Given the description of an element on the screen output the (x, y) to click on. 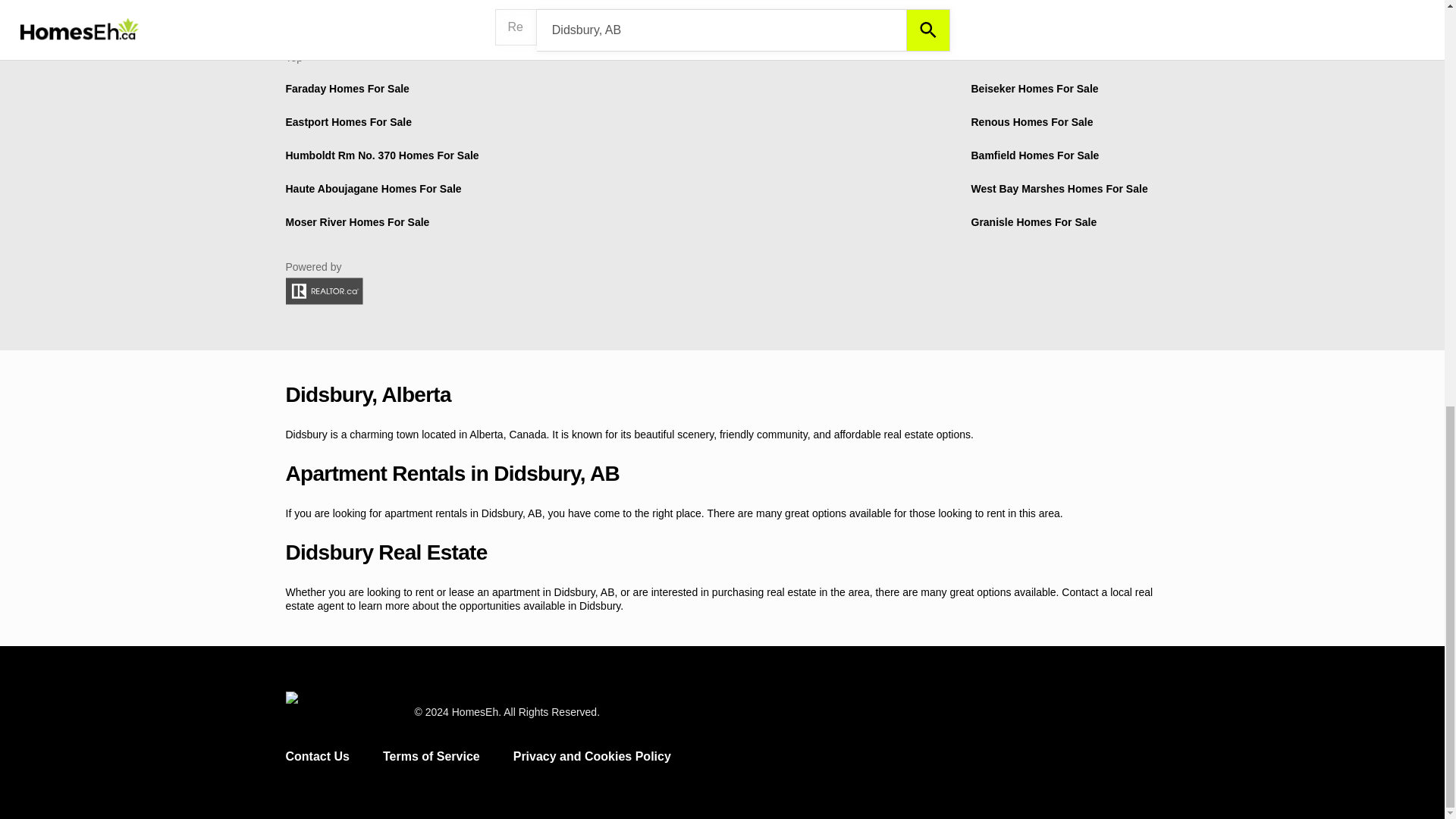
West Bay Marshes Homes For Sale (1059, 188)
Contact Us (317, 756)
Renous Homes For Sale (1032, 121)
Humboldt Rm No. 370 Homes For Sale (382, 155)
Cremona Homes For Sale (816, 2)
Ranch Farm Alberta Province (608, 2)
Bamfield Homes For Sale (1035, 155)
Granisle Homes For Sale (1033, 222)
Privacy and Cookies Policy (592, 756)
Terms of Service (431, 756)
